Given the description of an element on the screen output the (x, y) to click on. 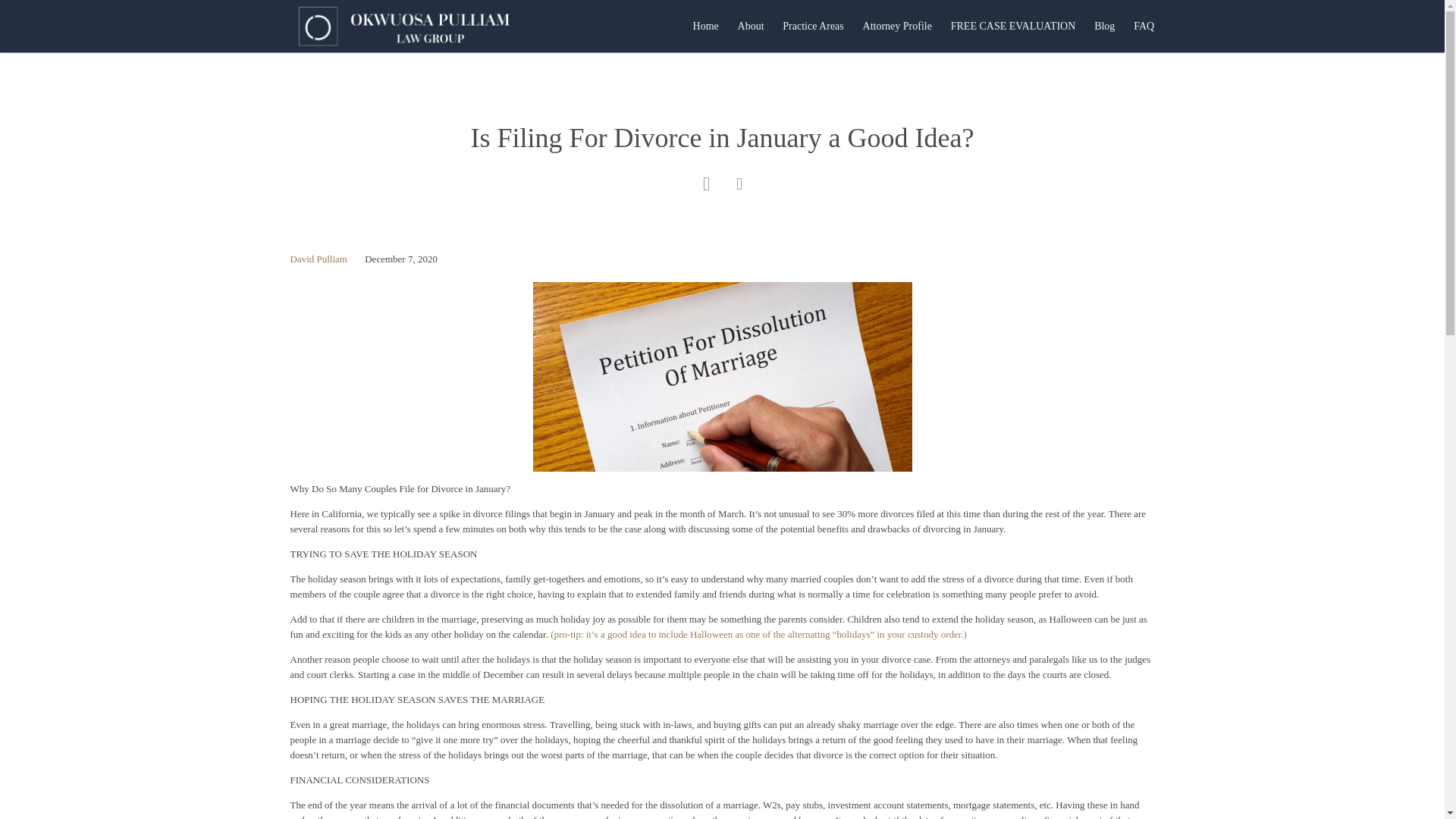
FREE CASE EVALUATION (1012, 25)
David Pulliam (317, 258)
Posts by David Pulliam (317, 258)
FAQ (1143, 25)
Blog (1104, 25)
Practice Areas (813, 25)
About (750, 25)
Okwuosa Pulliam Law Group (402, 26)
Home (705, 25)
Attorney Profile (896, 25)
